Given the description of an element on the screen output the (x, y) to click on. 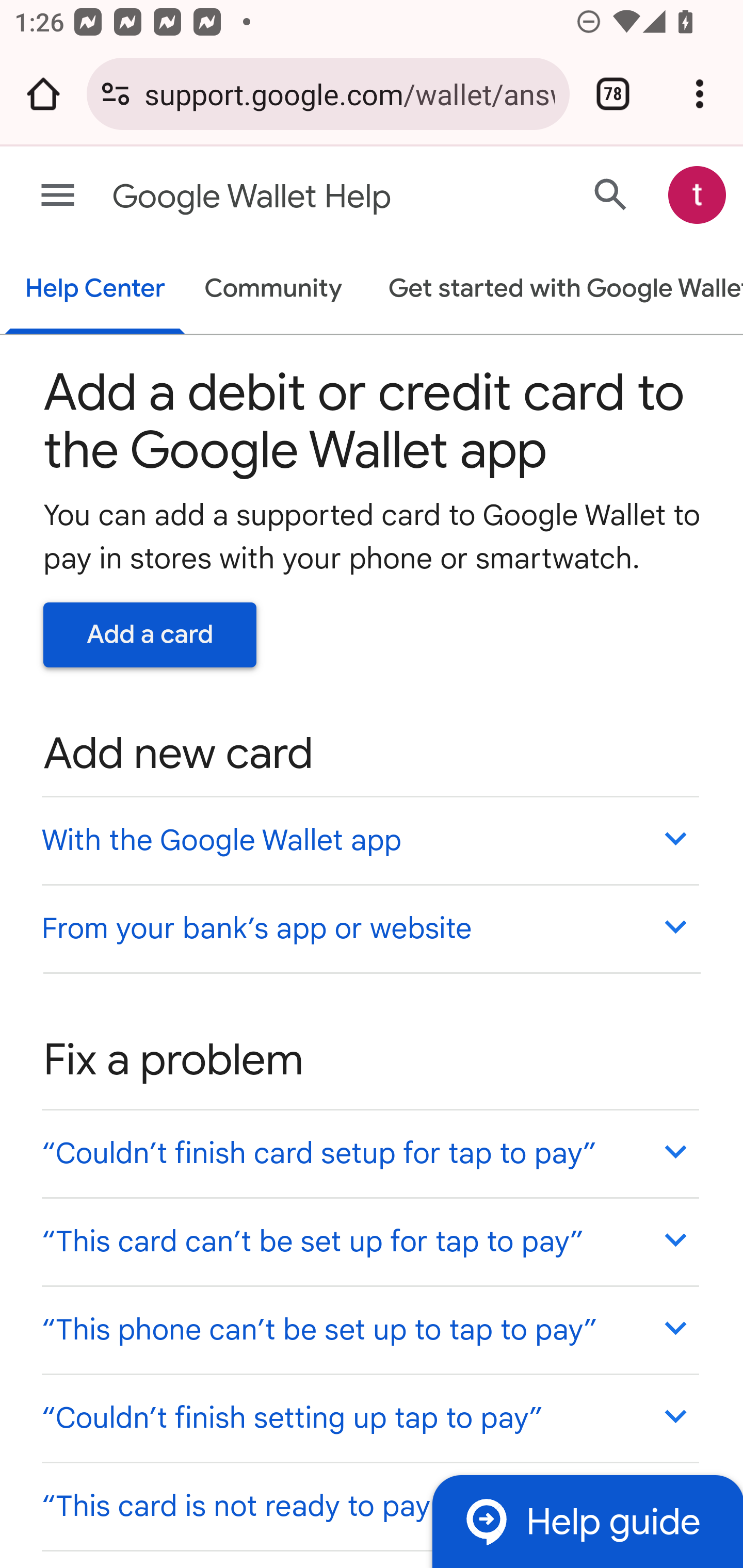
Open the home page (43, 93)
Connection is secure (115, 93)
Switch or close tabs (612, 93)
Customize and control Google Chrome (699, 93)
Main menu (58, 195)
Google Wallet Help (292, 197)
Search Help Center (611, 194)
Help Center (94, 289)
Community (273, 289)
Get started with Google Wallet (555, 289)
Add a card (150, 633)
With the Google Wallet app (369, 839)
From your bank’s app or website (369, 927)
“Couldn’t finish card setup for tap to pay” (369, 1152)
“This card can’t be set up for tap to pay” (369, 1240)
“This phone can’t be set up to tap to pay” (369, 1329)
“Couldn’t finish setting up tap to pay” (369, 1417)
“This card is not ready to pay online” (369, 1504)
Help guide (587, 1520)
